Given the description of an element on the screen output the (x, y) to click on. 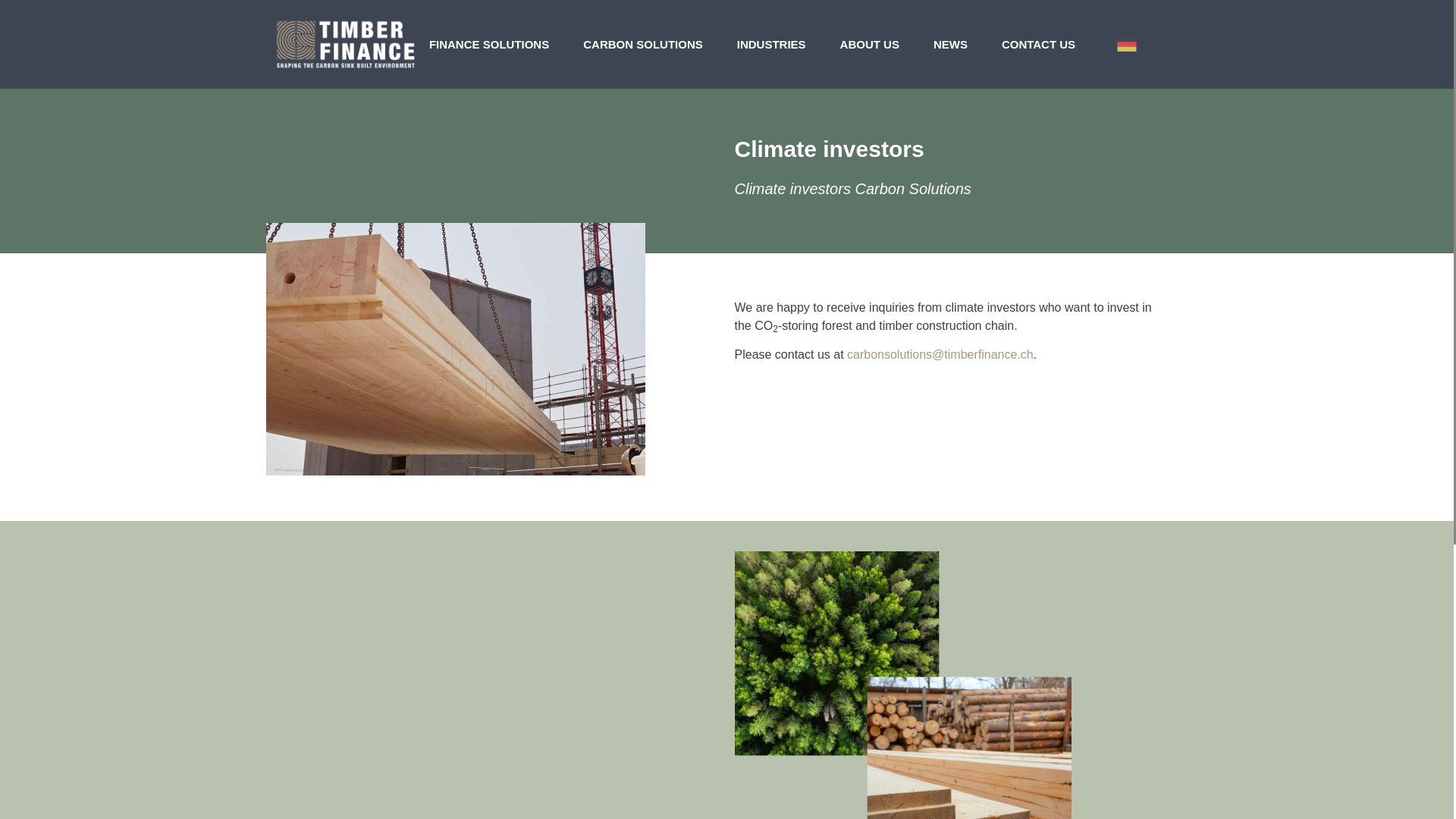
CARBON SOLUTIONS (643, 44)
CONTACT US (1037, 44)
NEWS (950, 44)
INDUSTRIES (771, 44)
ABOUT US (868, 44)
verified-carbon-02-fix (455, 348)
FINANCE SOLUTIONS (489, 44)
